Given the description of an element on the screen output the (x, y) to click on. 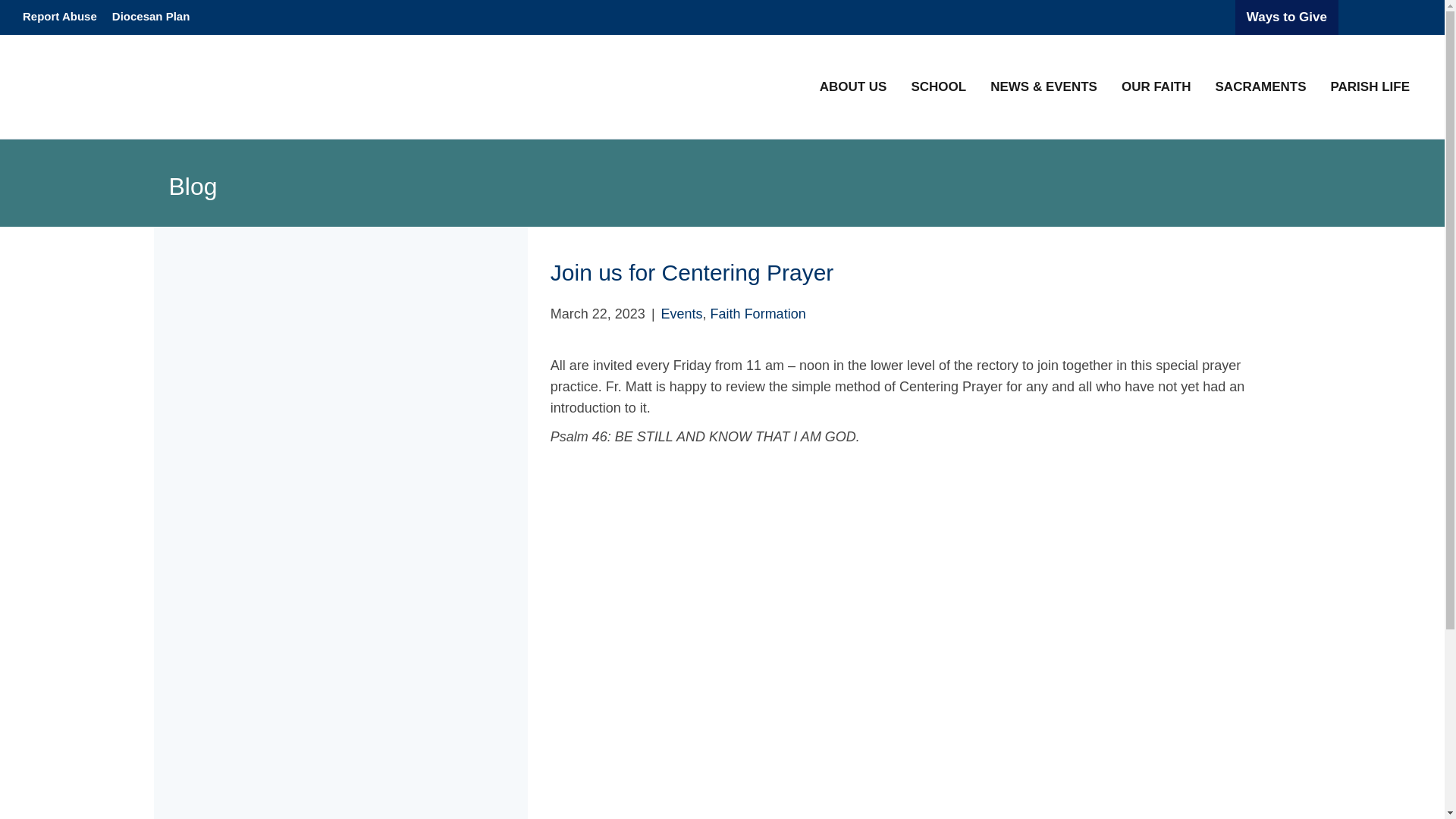
OUR FAITH (1156, 86)
Diocesan Plan (151, 16)
ABOUT US (853, 86)
SACRAMENTS (1261, 86)
SCHOOL (938, 86)
DJC ButtonLogo 2021 (1377, 17)
Report Abuse (59, 16)
Ways to Give (1286, 17)
